Given the description of an element on the screen output the (x, y) to click on. 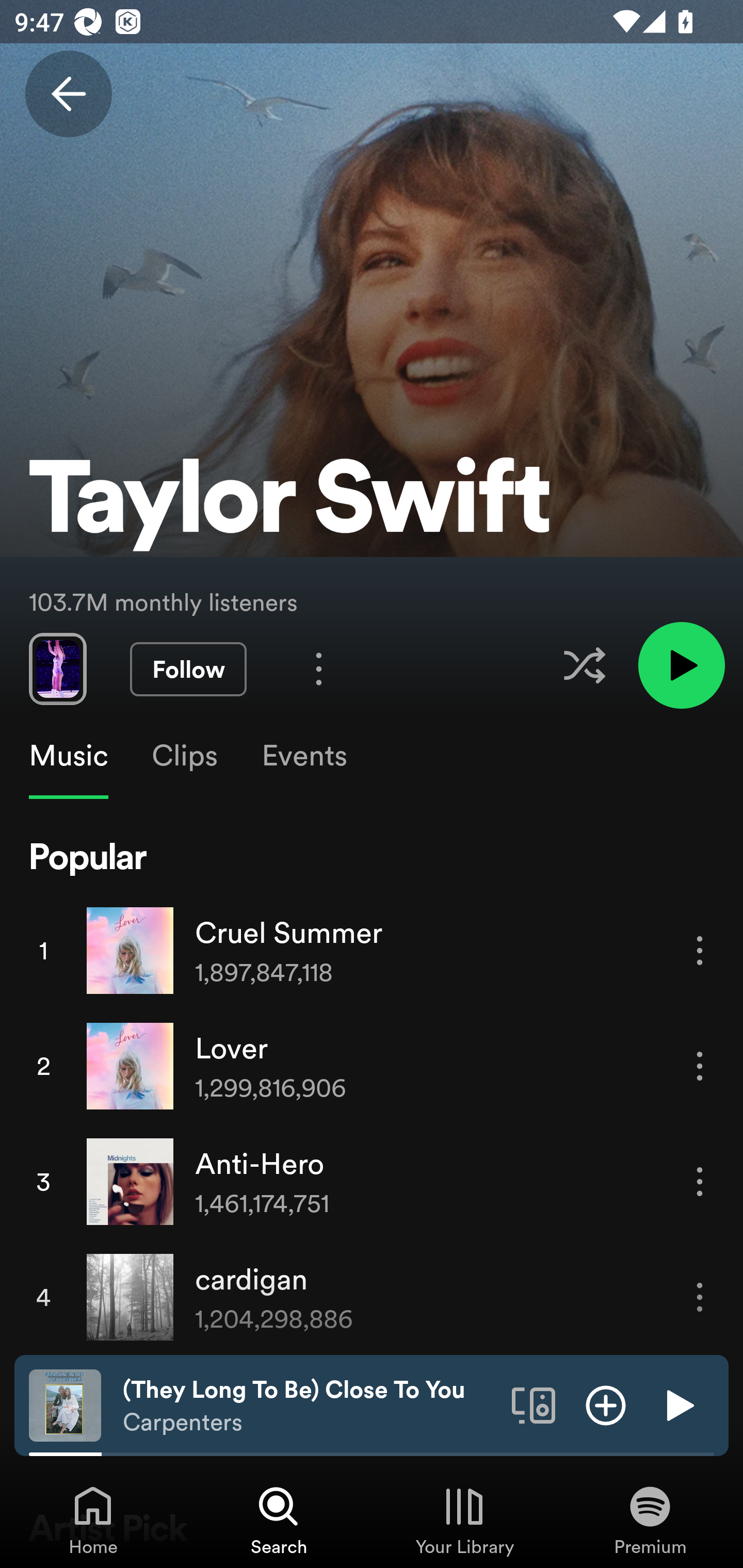
Back (68, 93)
Play artist (681, 664)
Enable shuffle for this artist (583, 665)
Swipe through previews of tracks from this artist. (57, 668)
More options for artist Taylor Swift (318, 668)
Follow (188, 669)
Clips (184, 755)
Events (303, 755)
More options for song Cruel Summer (699, 950)
2 Lover 1,299,816,906 More options for song Lover (371, 1066)
More options for song Lover (699, 1066)
More options for song Anti-Hero (699, 1181)
More options for song cardigan (699, 1297)
(They Long To Be) Close To You Carpenters (309, 1405)
The cover art of the currently playing track (64, 1404)
Connect to a device. Opens the devices menu (533, 1404)
Add item (605, 1404)
Home, Tab 1 of 4 Home Home (92, 1519)
Search, Tab 2 of 4 Search Search (278, 1519)
Your Library, Tab 3 of 4 Your Library Your Library (464, 1519)
Premium, Tab 4 of 4 Premium Premium (650, 1519)
